Given the description of an element on the screen output the (x, y) to click on. 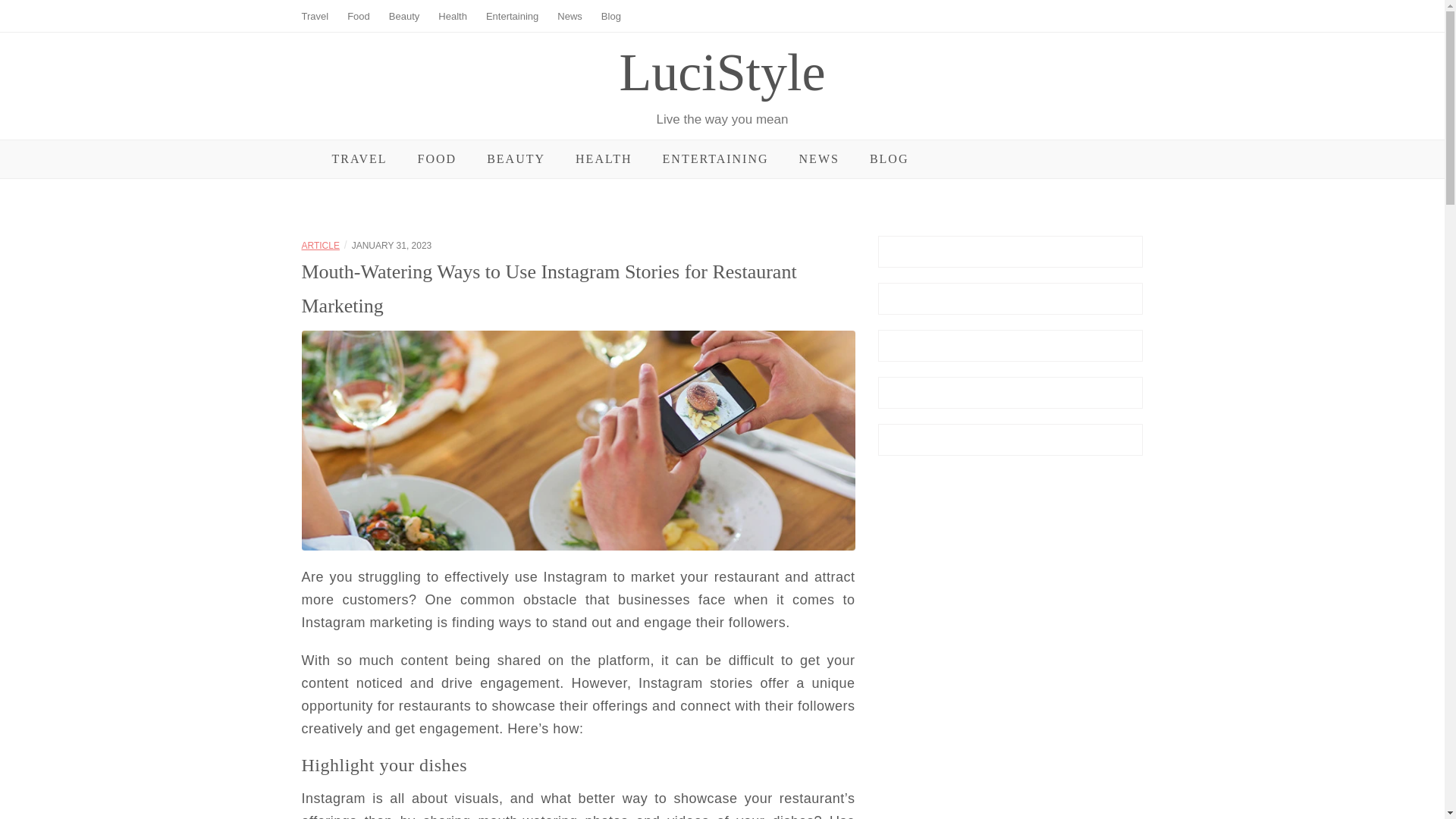
Blog (611, 16)
ENTERTAINING (715, 159)
LuciStyle (721, 72)
Food (358, 16)
Beauty (403, 16)
TRAVEL (359, 159)
BEAUTY (515, 159)
News (569, 16)
HEALTH (603, 159)
ARTICLE (320, 245)
